Given the description of an element on the screen output the (x, y) to click on. 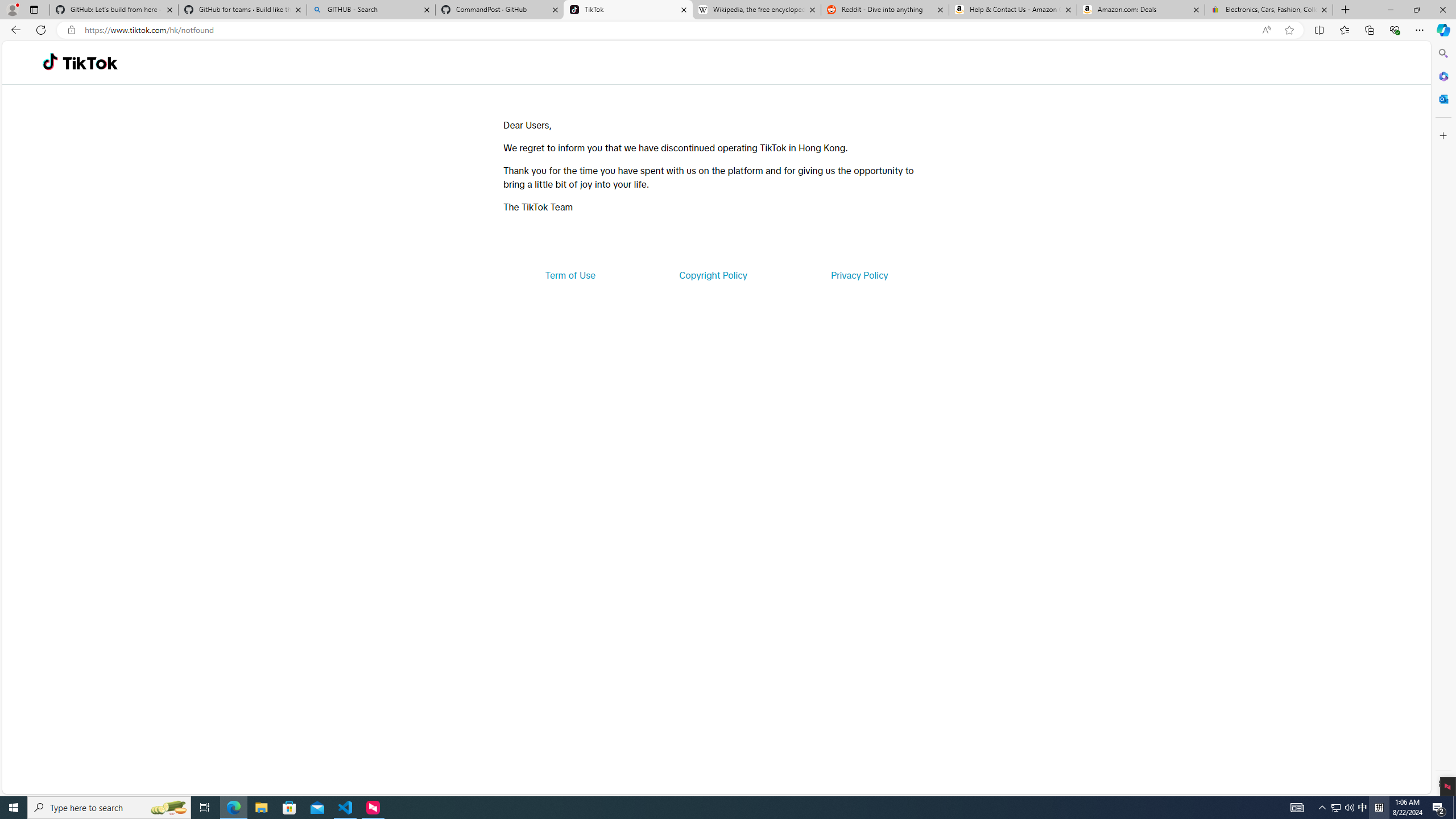
App bar (728, 29)
TikTok (628, 9)
New Tab (1346, 9)
Settings and more (Alt+F) (1419, 29)
Side bar (1443, 418)
Close Outlook pane (1442, 98)
TikTok (89, 62)
Help & Contact Us - Amazon Customer Service (1012, 9)
GITHUB - Search (370, 9)
Settings (1442, 783)
Restore (1416, 9)
Split screen (1318, 29)
View site information (70, 29)
Amazon.com: Deals (1140, 9)
